Given the description of an element on the screen output the (x, y) to click on. 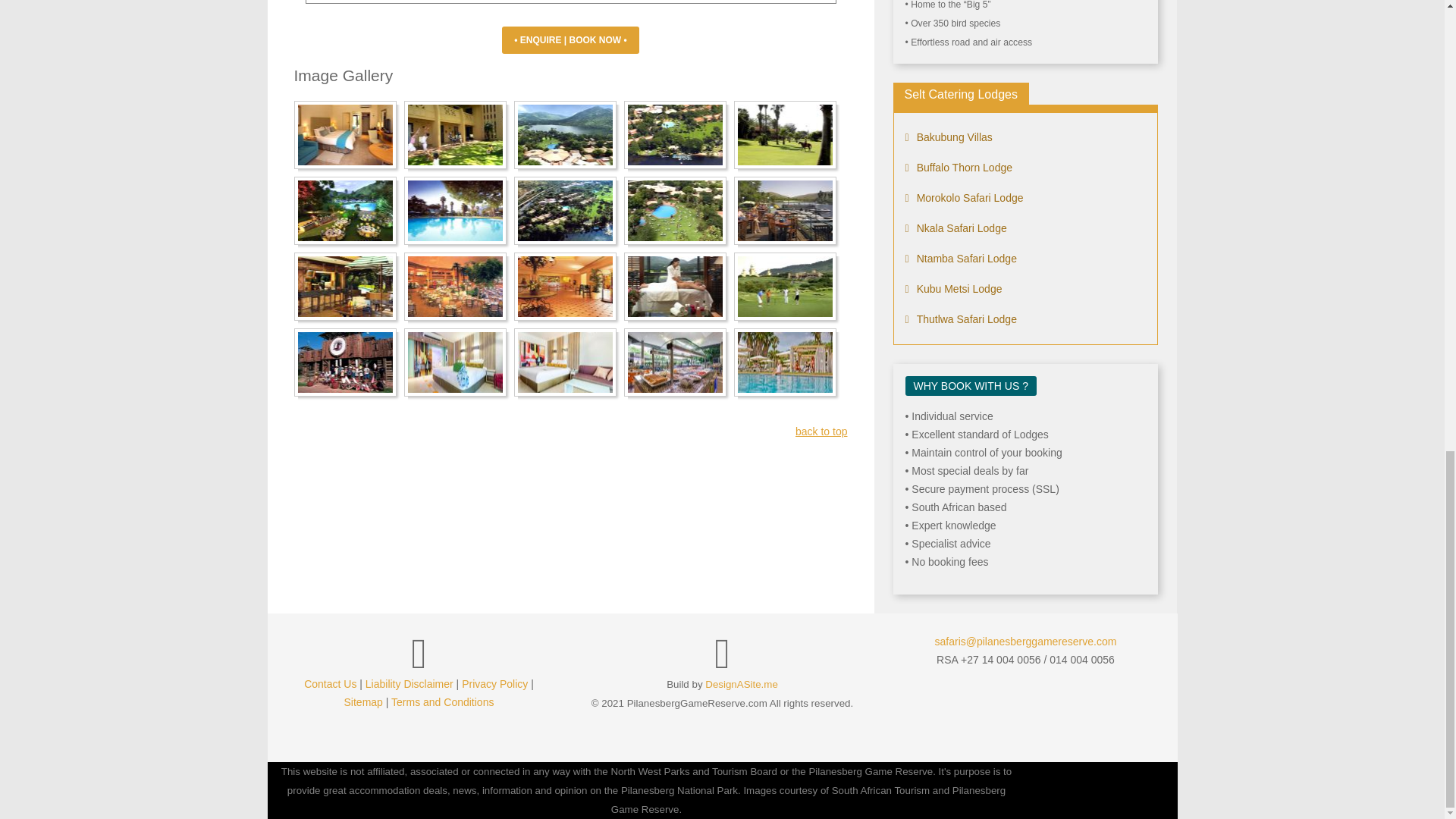
Click to enlarge image 005-Sun-City-Cabanas-Hotel.jpg (783, 134)
Click to enlarge image 006-Sun-City-Cabanas-Hotel.jpg (344, 210)
Click to enlarge image 007-Sun-City-Cabanas-Hotel.jpg (454, 210)
Click to enlarge image 004.1-Sun-City-Cabanas-Hotel.jpg (674, 134)
Click to enlarge image 001-Sun-City-Cabanas-Hotel.jpg (344, 134)
Click to enlarge image 008-Sun-City-Cabanas-Hotel.jpg (563, 210)
Click to enlarge image 004-Sun-City-Cabanas-Hotel.jpg (563, 134)
Click to enlarge image 009-Sun-City-Cabanas-Hotel.jpg (674, 210)
Click to enlarge image 002-Sun-City-Cabanas-Hotel.jpg (454, 134)
Click to enlarge image 010-Sun-City-Cabanas-Hotel.jpg (783, 210)
